Given the description of an element on the screen output the (x, y) to click on. 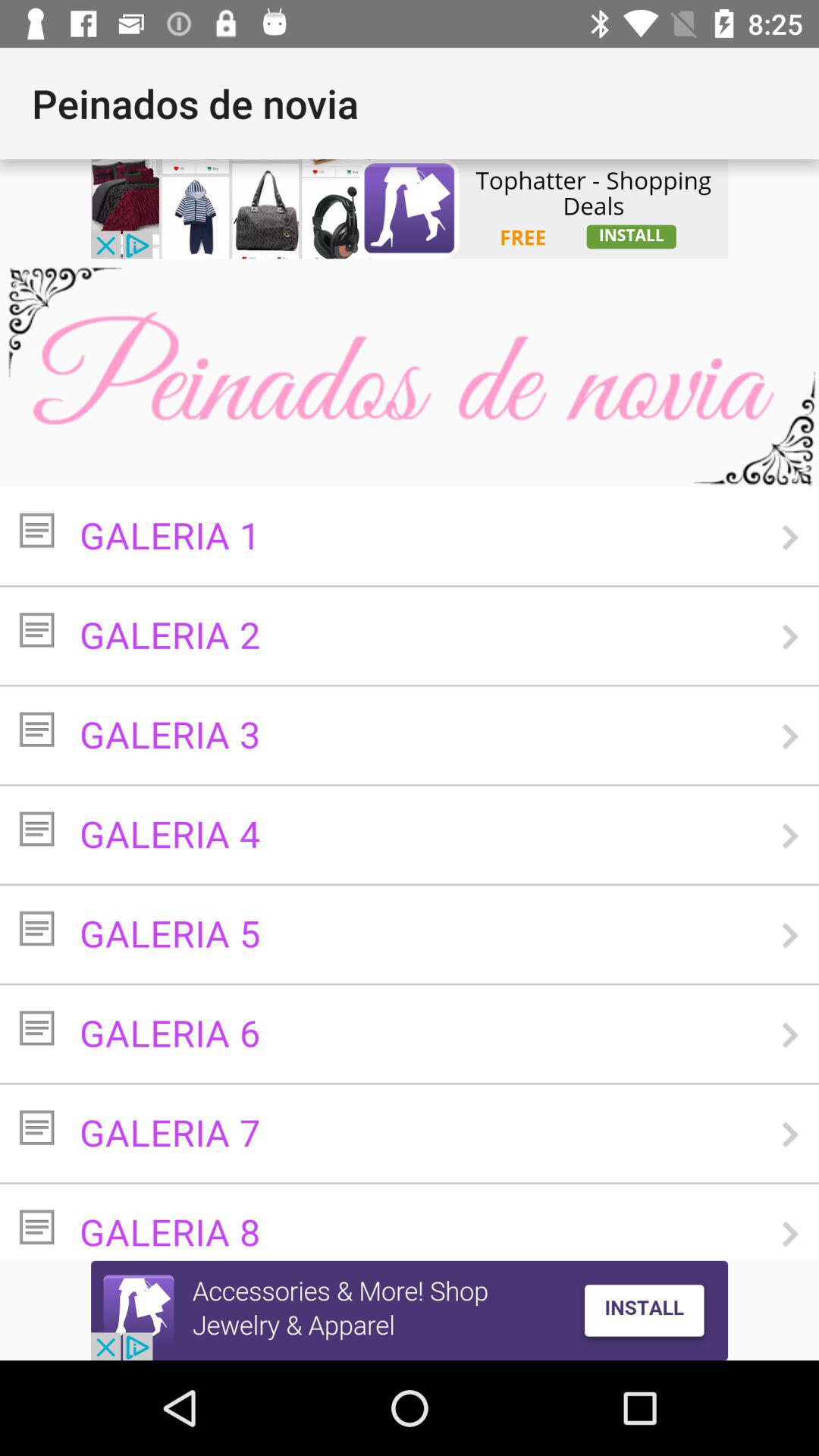
go to advertisement (409, 1310)
